Given the description of an element on the screen output the (x, y) to click on. 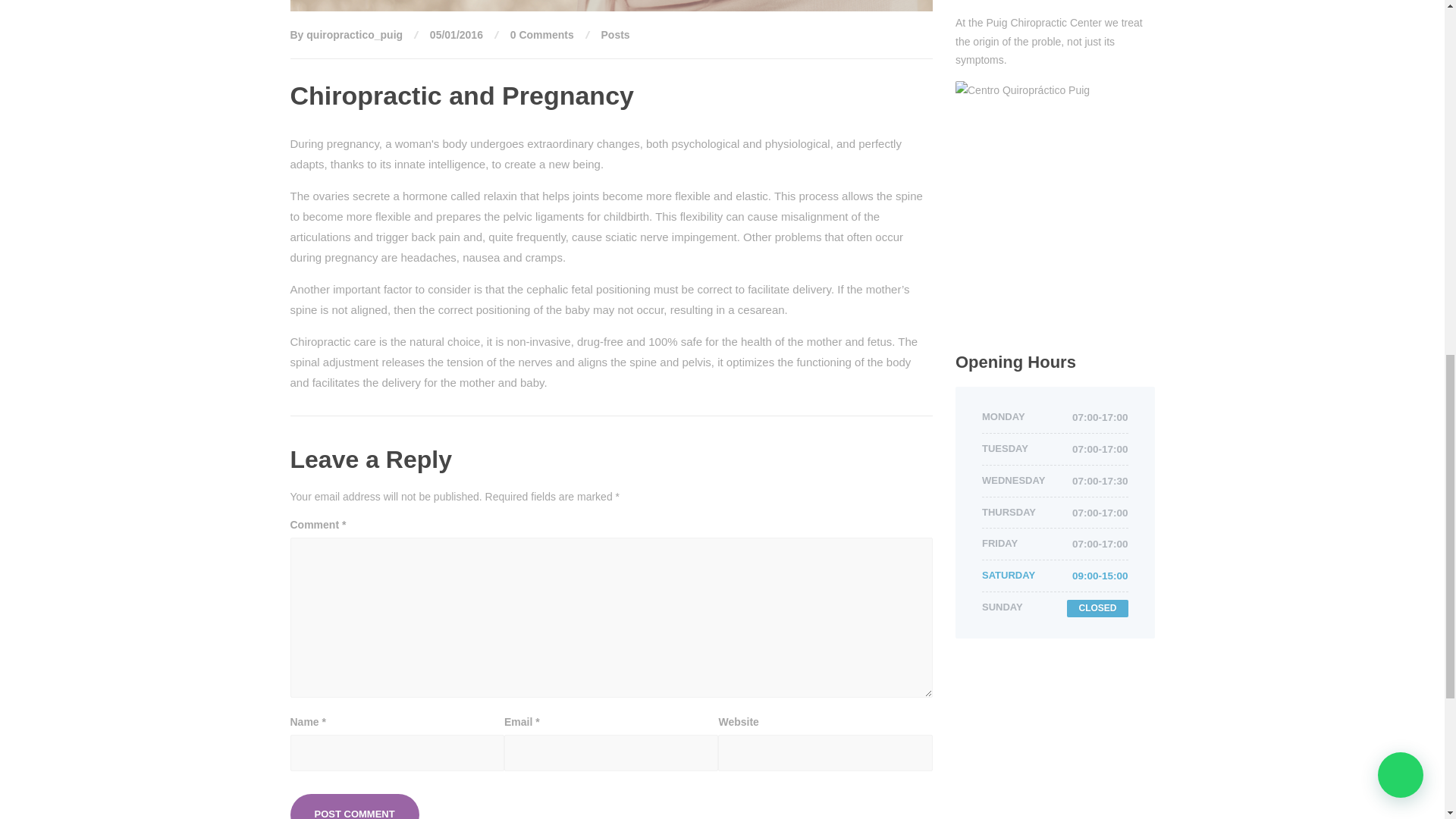
Posts (615, 34)
0 Comments (542, 34)
Post Comment (354, 806)
Post Comment (354, 806)
